Given the description of an element on the screen output the (x, y) to click on. 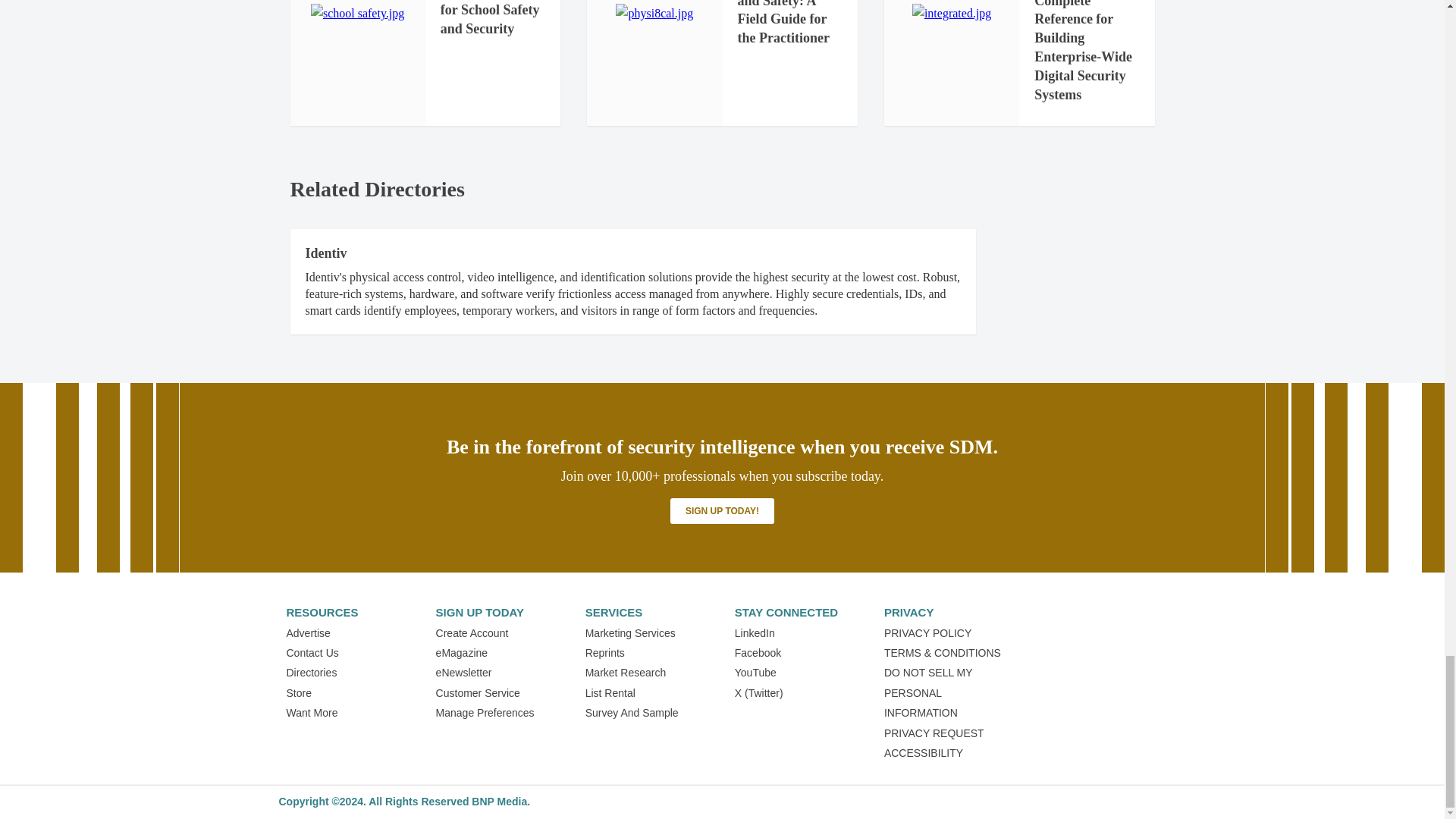
school safety.jpg (357, 13)
integrated.jpg (951, 13)
physi8cal.jpg (654, 13)
